Given the description of an element on the screen output the (x, y) to click on. 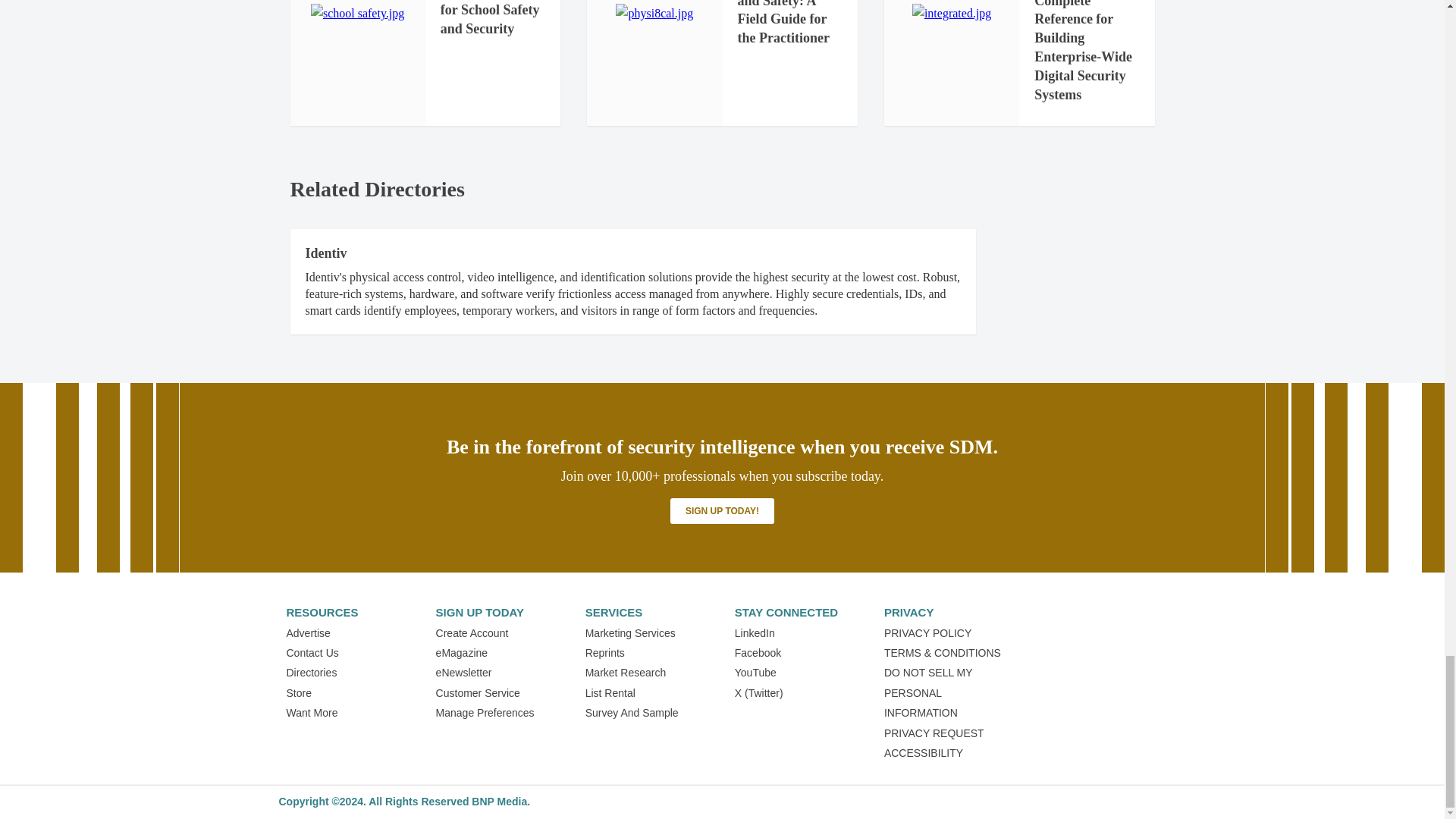
school safety.jpg (357, 13)
integrated.jpg (951, 13)
physi8cal.jpg (654, 13)
